Given the description of an element on the screen output the (x, y) to click on. 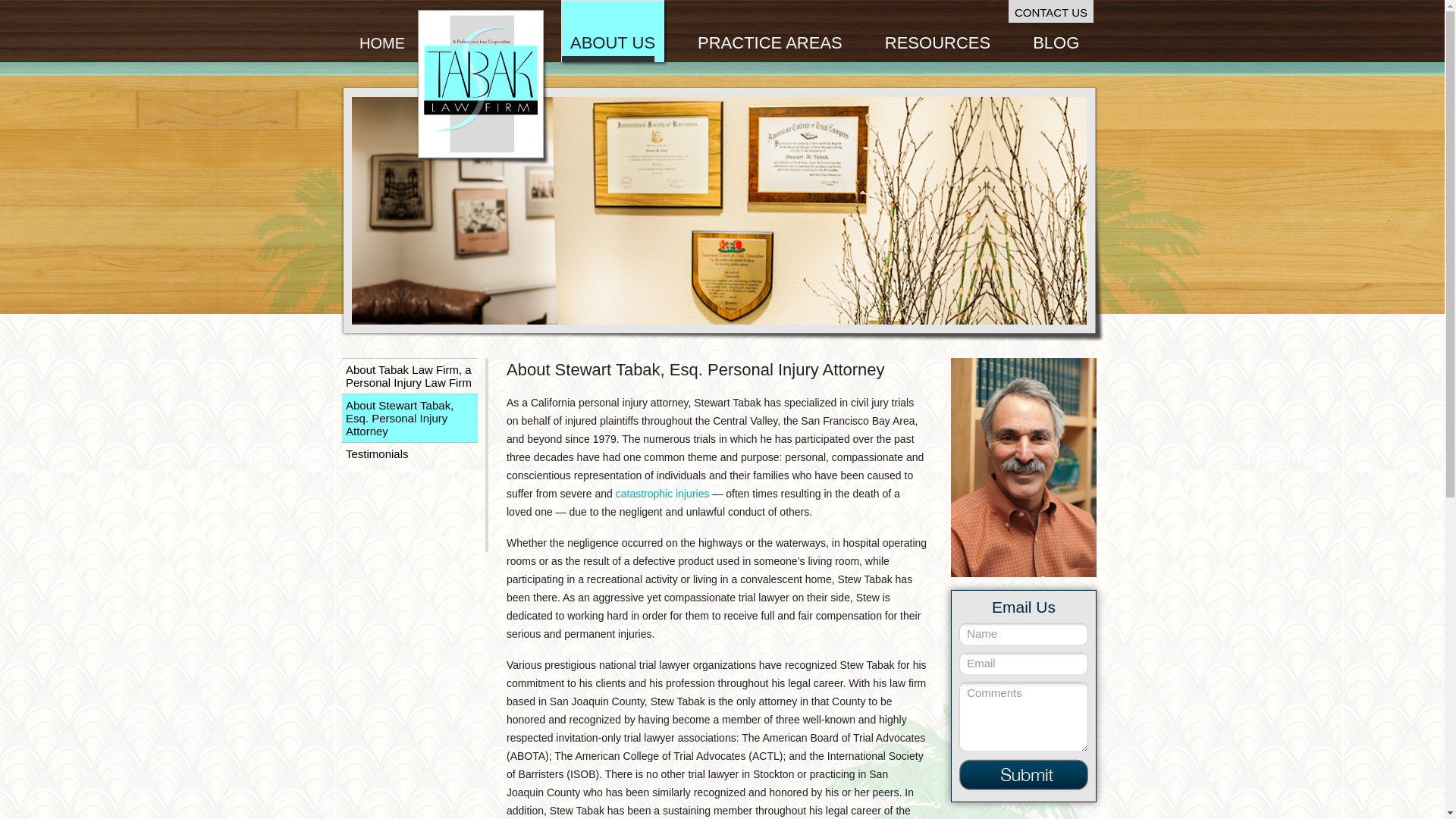
 Name (1023, 633)
HOME (381, 31)
Submit (1023, 774)
Submit (1023, 774)
Testimonials (409, 454)
 Email (1023, 662)
RESOURCES (937, 31)
About Tabak Law Firm, a Personal Injury Law Firm (409, 375)
ABOUT US (612, 31)
PRACTICE AREAS (769, 31)
catastrophic injuries (662, 493)
About Stewart Tabak, Esq. Personal Injury Attorney (409, 417)
BLOG (1056, 31)
CONTACT US (1051, 11)
